Given the description of an element on the screen output the (x, y) to click on. 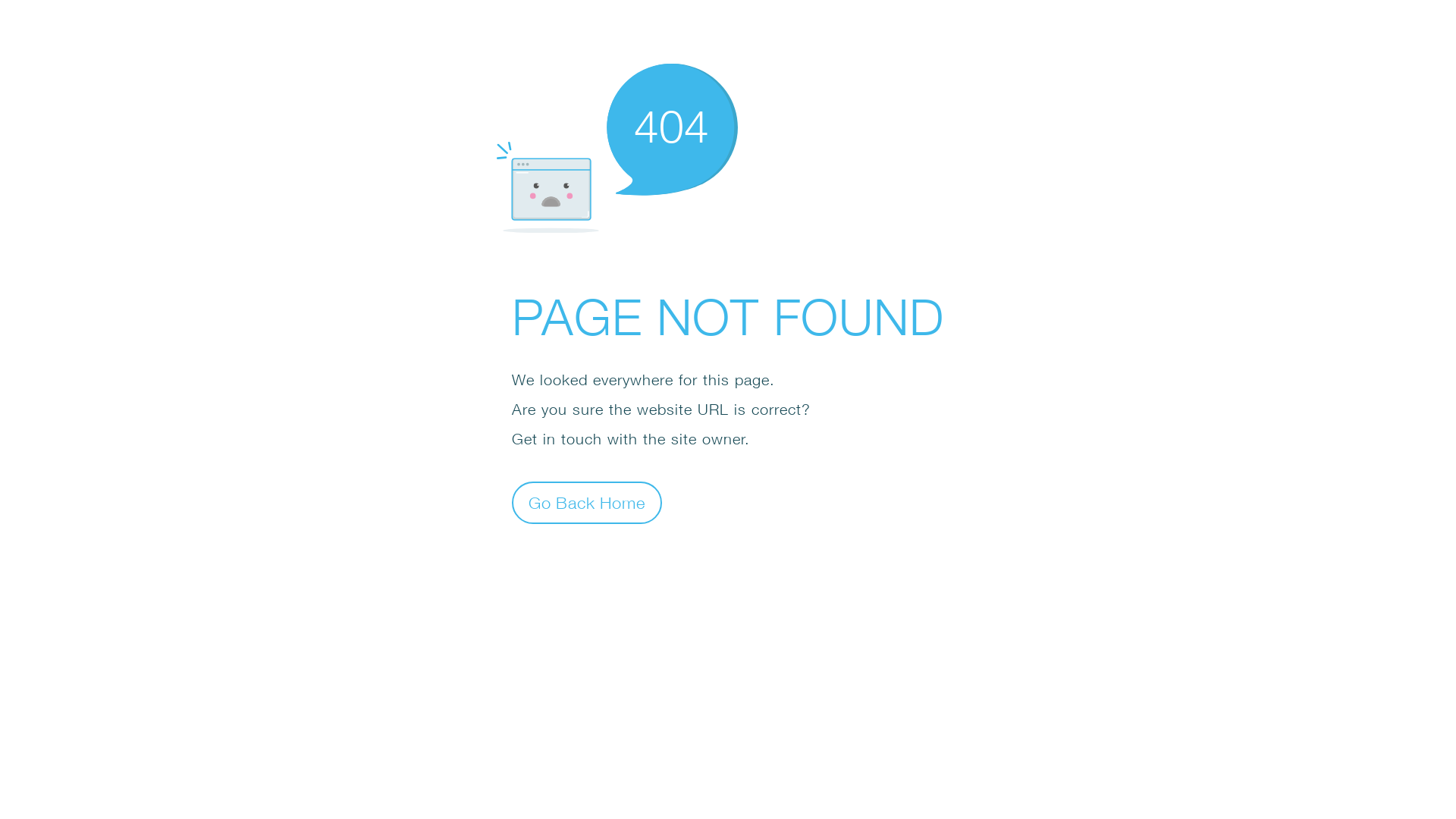
Go Back Home Element type: text (586, 502)
